Given the description of an element on the screen output the (x, y) to click on. 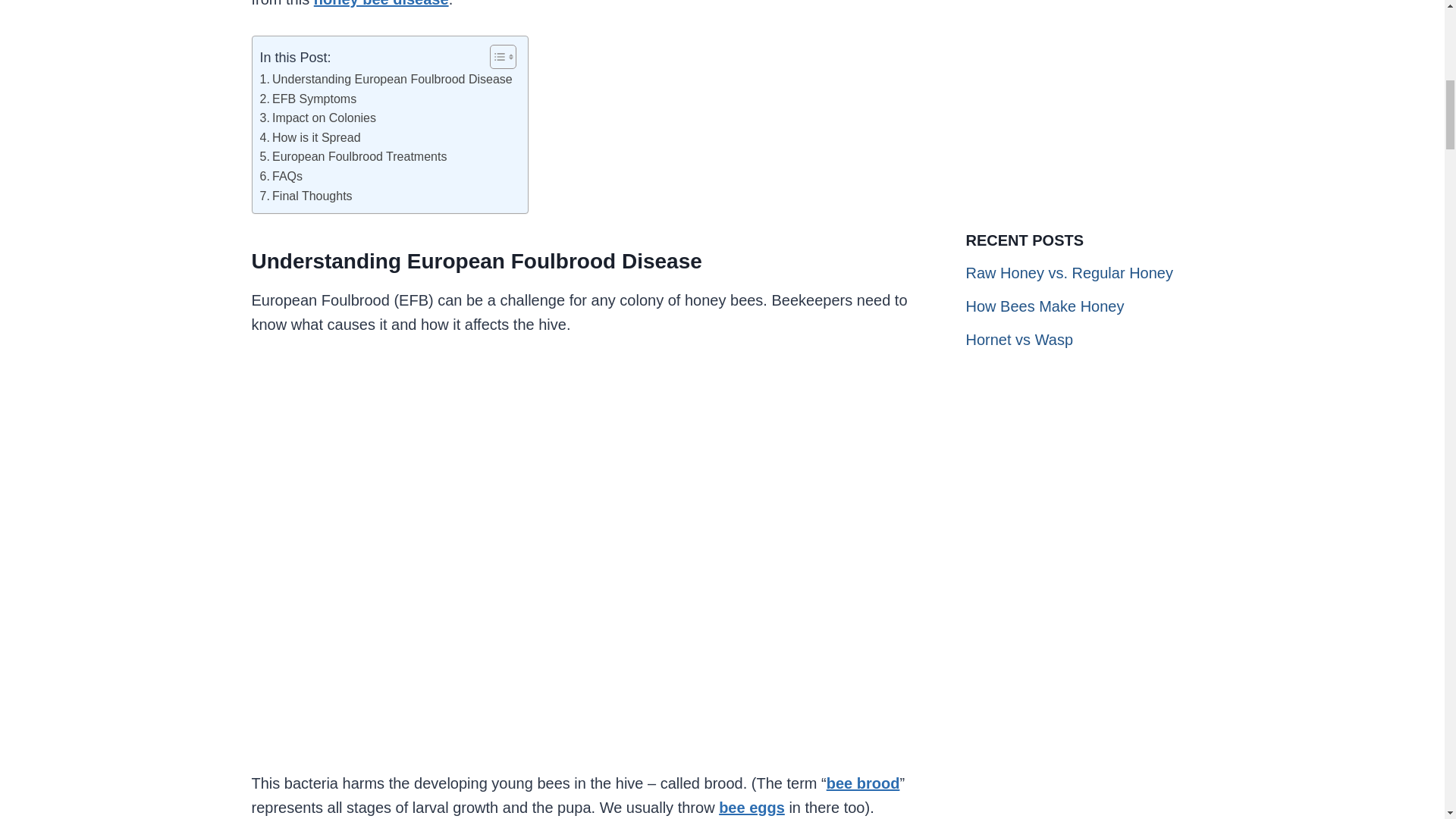
European Foulbrood Treatments (352, 157)
EFB Symptoms (307, 98)
How is it Spread (309, 137)
Final Thoughts (305, 196)
bee eggs (751, 807)
Understanding European Foulbrood Disease (385, 79)
Impact on Colonies (317, 117)
FAQs (280, 176)
FAQs (280, 176)
EFB Symptoms (307, 98)
